Given the description of an element on the screen output the (x, y) to click on. 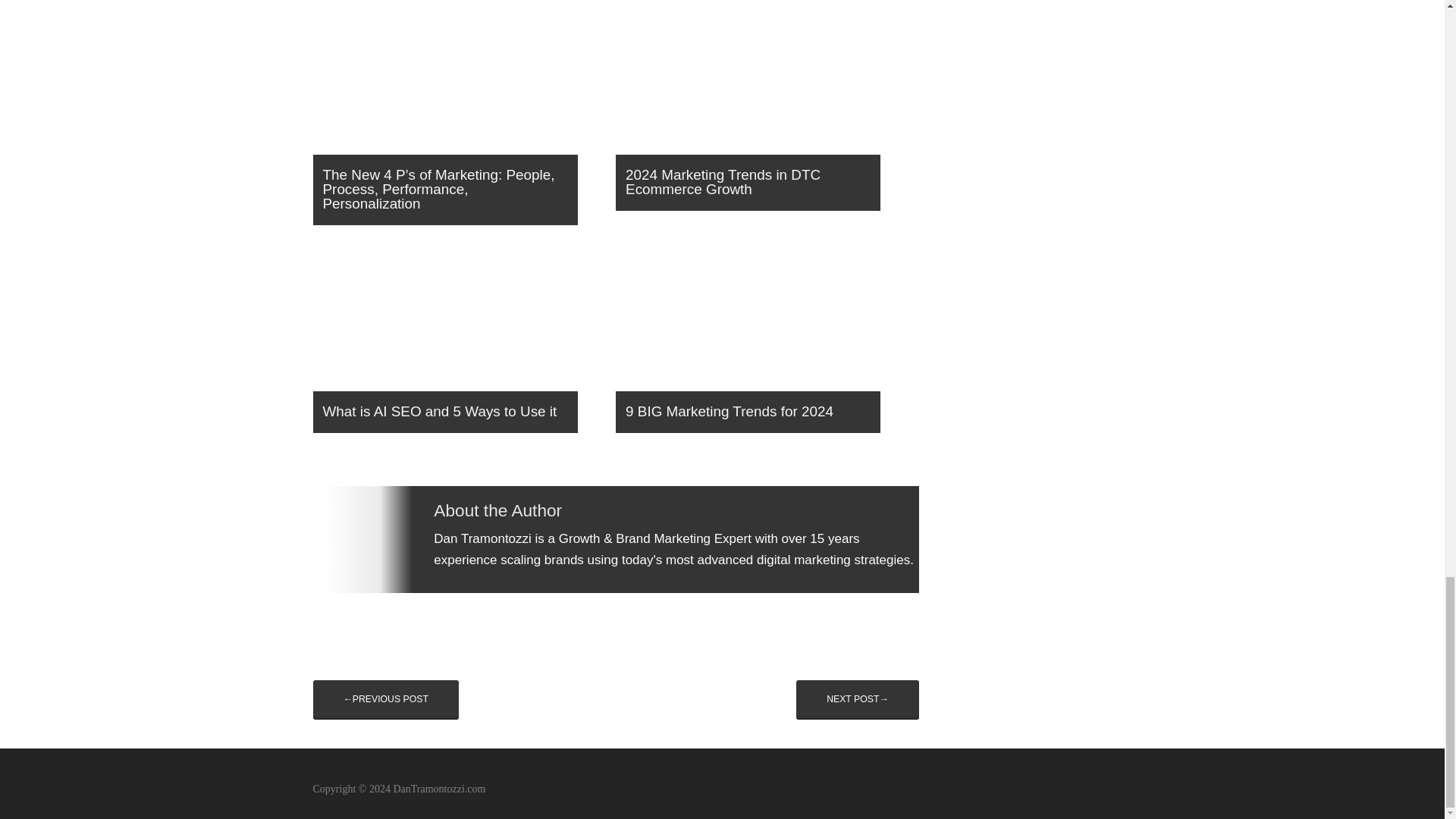
What is AI SEO and 5 Ways to Use it (458, 346)
9 BIG Marketing Trends for 2024 (761, 346)
2024 Marketing Trends in DTC Ecommerce Growth (761, 116)
